Given the description of an element on the screen output the (x, y) to click on. 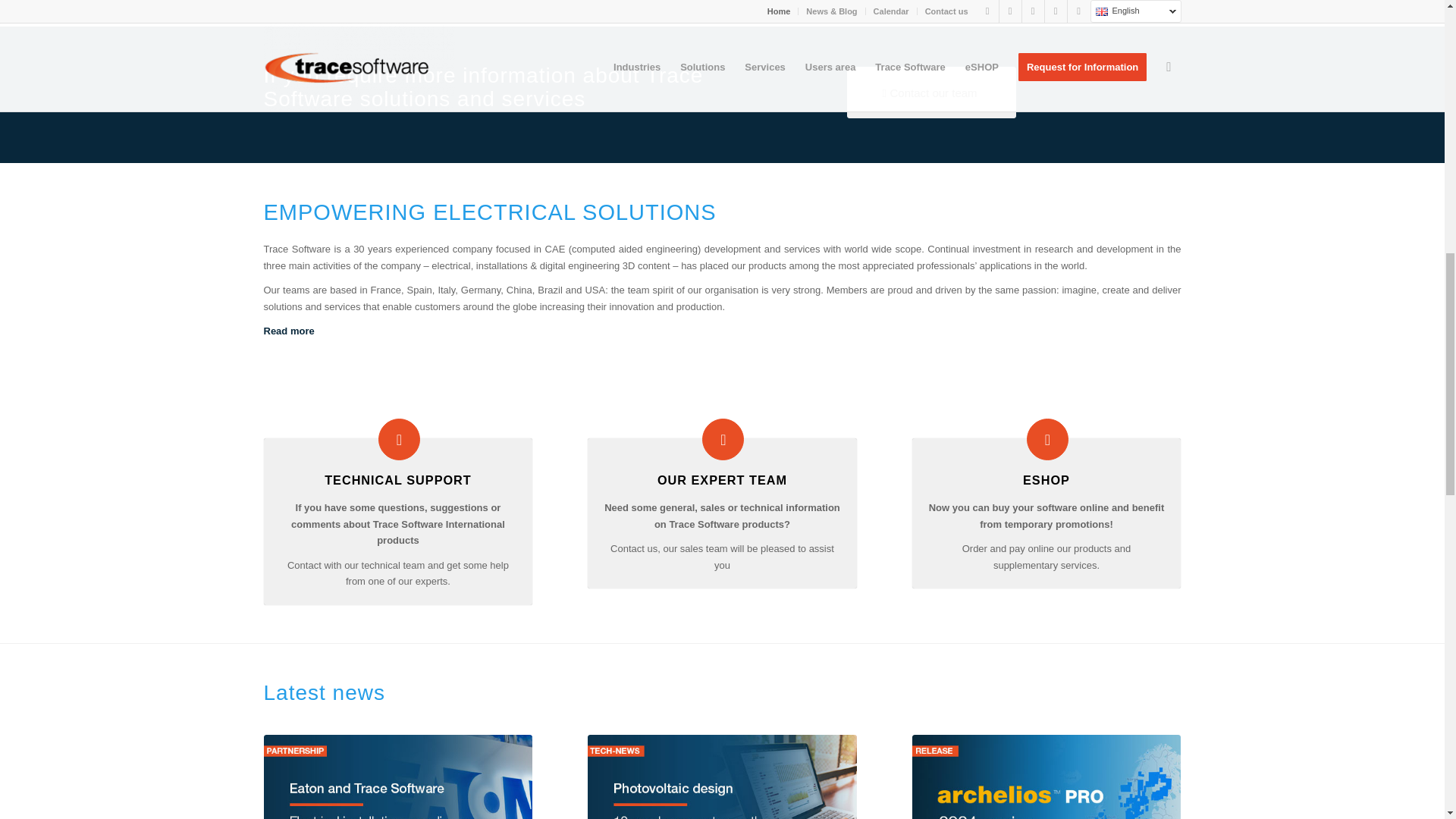
Our expert team (722, 479)
eShop (1047, 439)
Technical support (397, 479)
Our expert team (722, 439)
Technical support (399, 439)
